Given the description of an element on the screen output the (x, y) to click on. 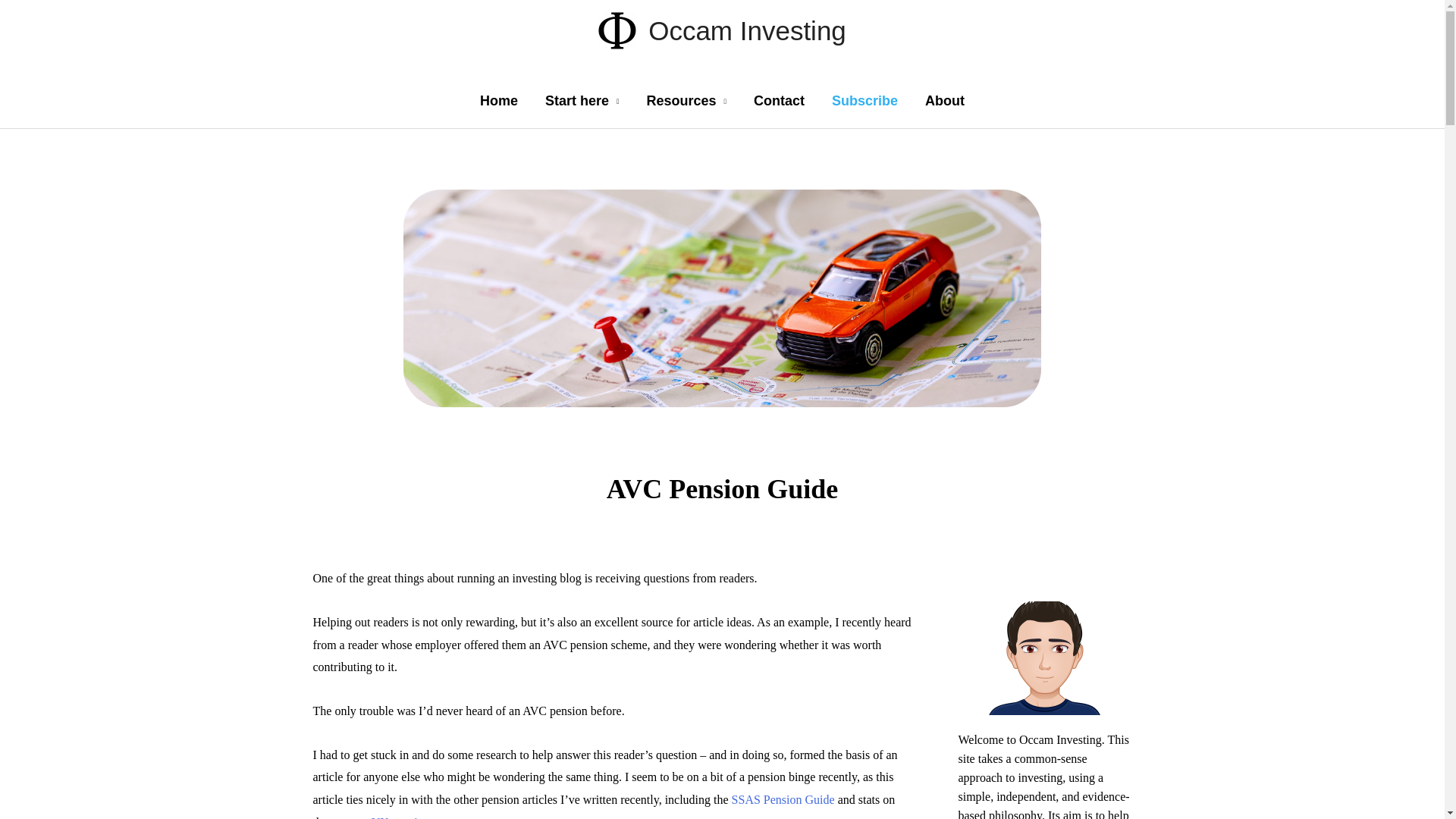
Resources (685, 100)
Home (498, 100)
Occam Investing (746, 30)
Subscribe (864, 100)
Contact (778, 100)
About (944, 100)
Start here (582, 100)
